Given the description of an element on the screen output the (x, y) to click on. 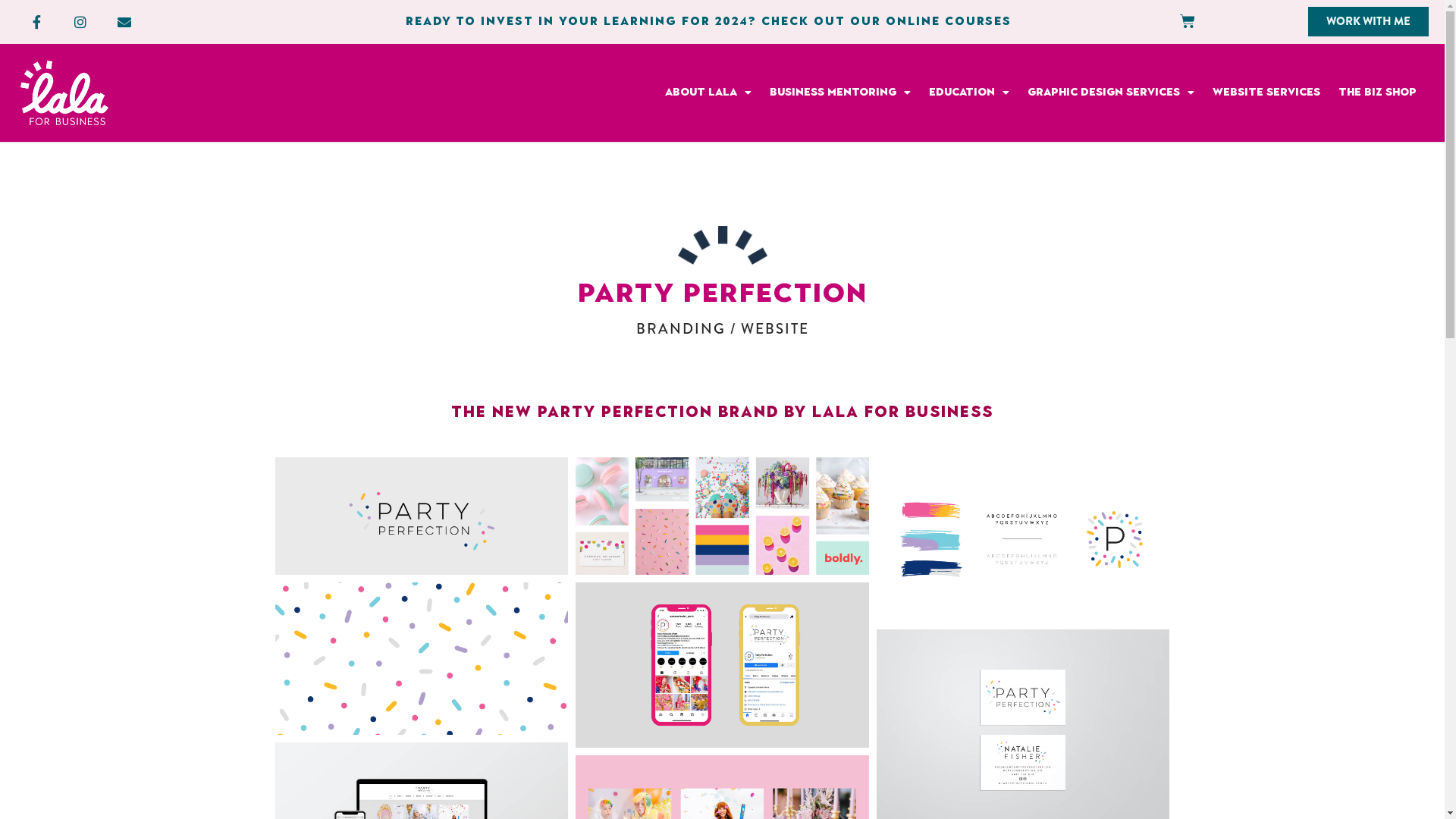
The Biz Shop Element type: text (1377, 92)
WORK WITH ME Element type: text (1368, 21)
About Lala Element type: text (707, 92)
Graphic Design Services Element type: text (1110, 92)
Business Mentoring Element type: text (839, 92)
Website Services Element type: text (1266, 92)
Education Element type: text (968, 92)
